Given the description of an element on the screen output the (x, y) to click on. 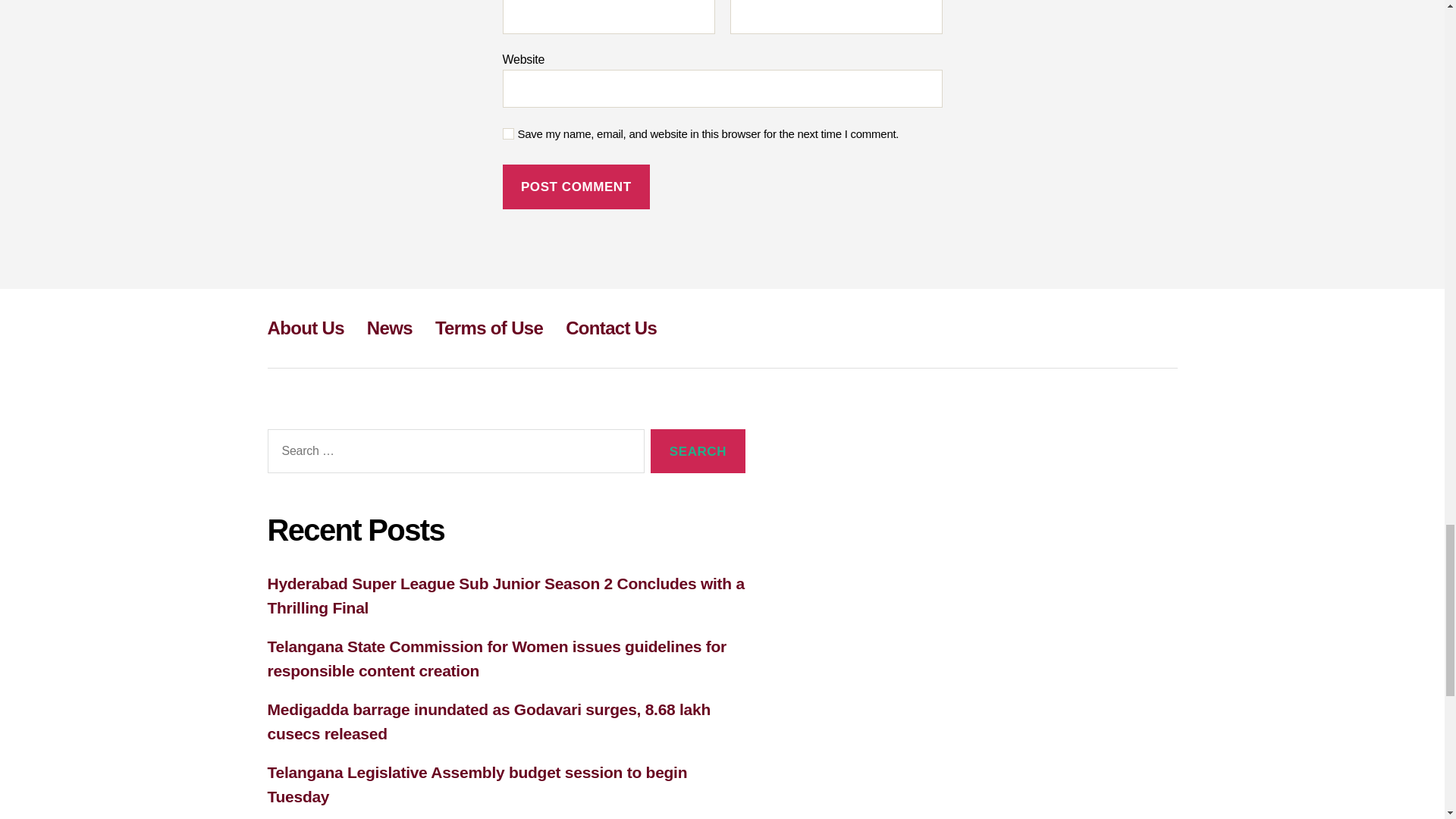
yes (507, 133)
About Us (304, 327)
News (389, 327)
Search (697, 451)
Terms of Use (489, 327)
Post Comment (575, 186)
Post Comment (575, 186)
Contact Us (611, 327)
Search (697, 451)
